Given the description of an element on the screen output the (x, y) to click on. 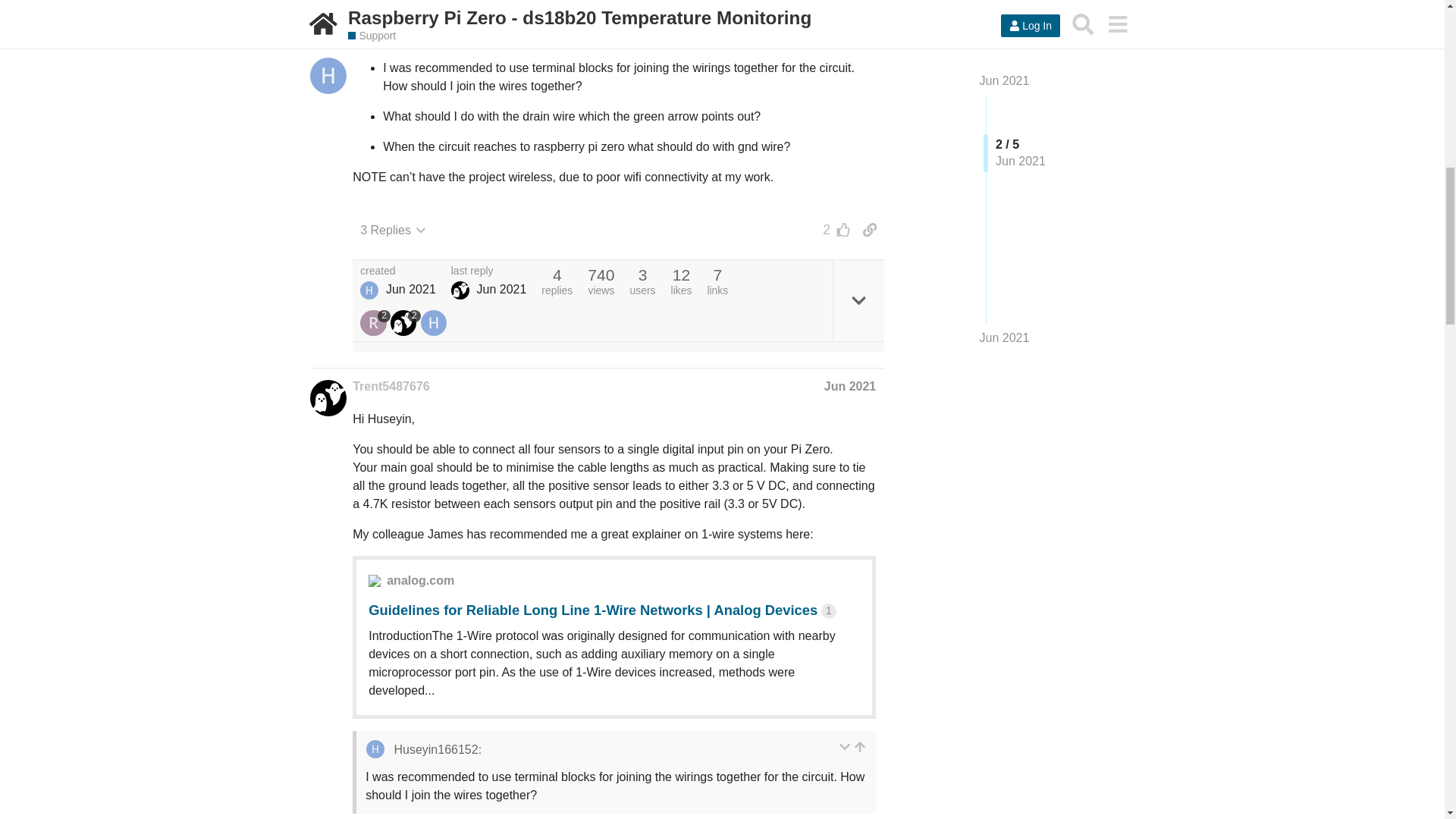
2 (832, 229)
copy a link to this post to clipboard (869, 229)
2 people liked this post (832, 229)
expand topic details (857, 300)
Huseyin (368, 290)
3 Replies (392, 230)
2 clicks (693, 6)
